Given the description of an element on the screen output the (x, y) to click on. 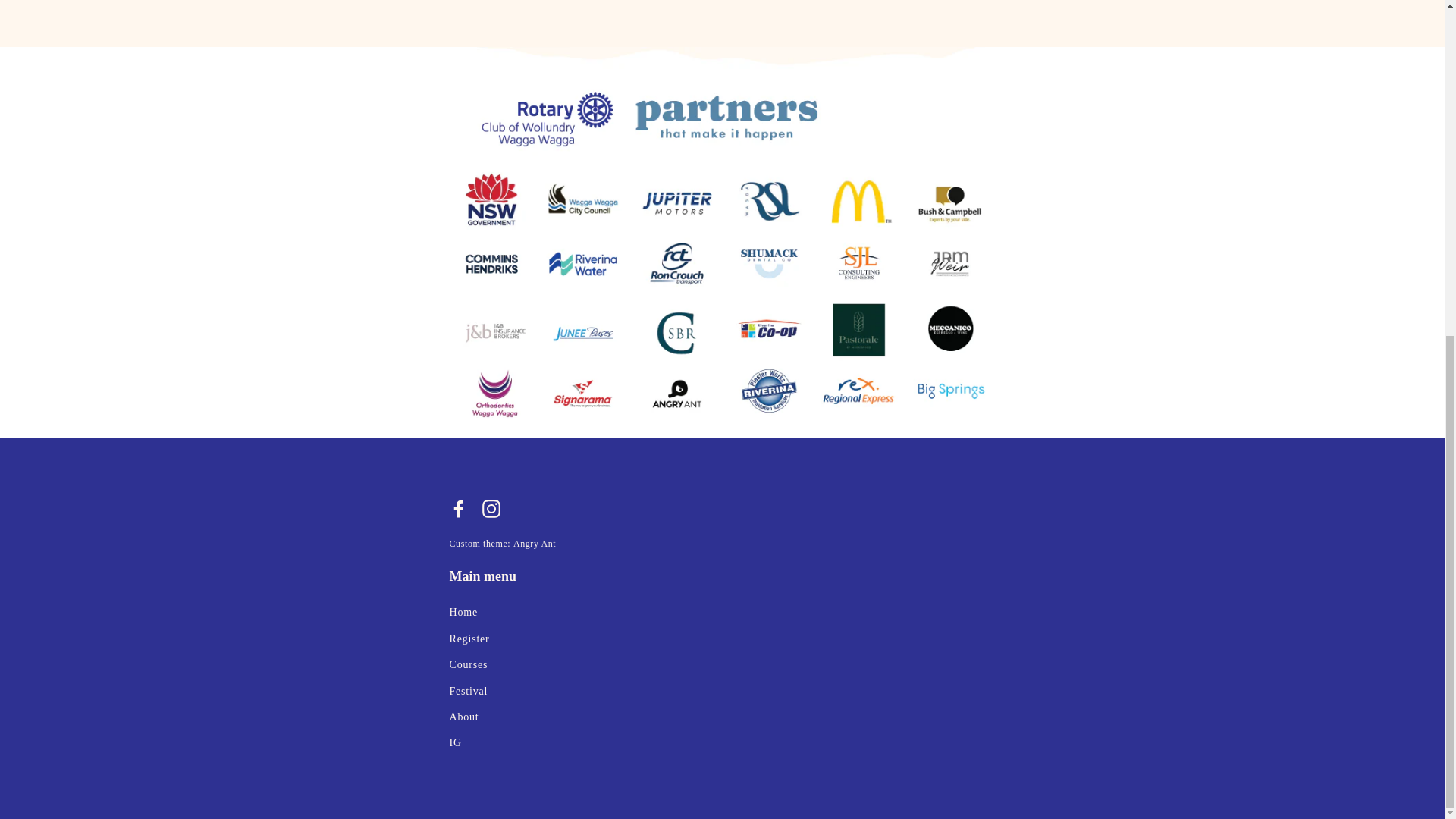
Gears and Beers Festival on Facebook (457, 507)
Register (721, 639)
Angry Ant (534, 543)
Festival (721, 691)
Instagram (490, 507)
Wagga website designer (534, 543)
Gears and Beers Festival on Instagram (490, 507)
Home (721, 612)
Facebook (457, 507)
Courses (721, 664)
About (721, 716)
